Given the description of an element on the screen output the (x, y) to click on. 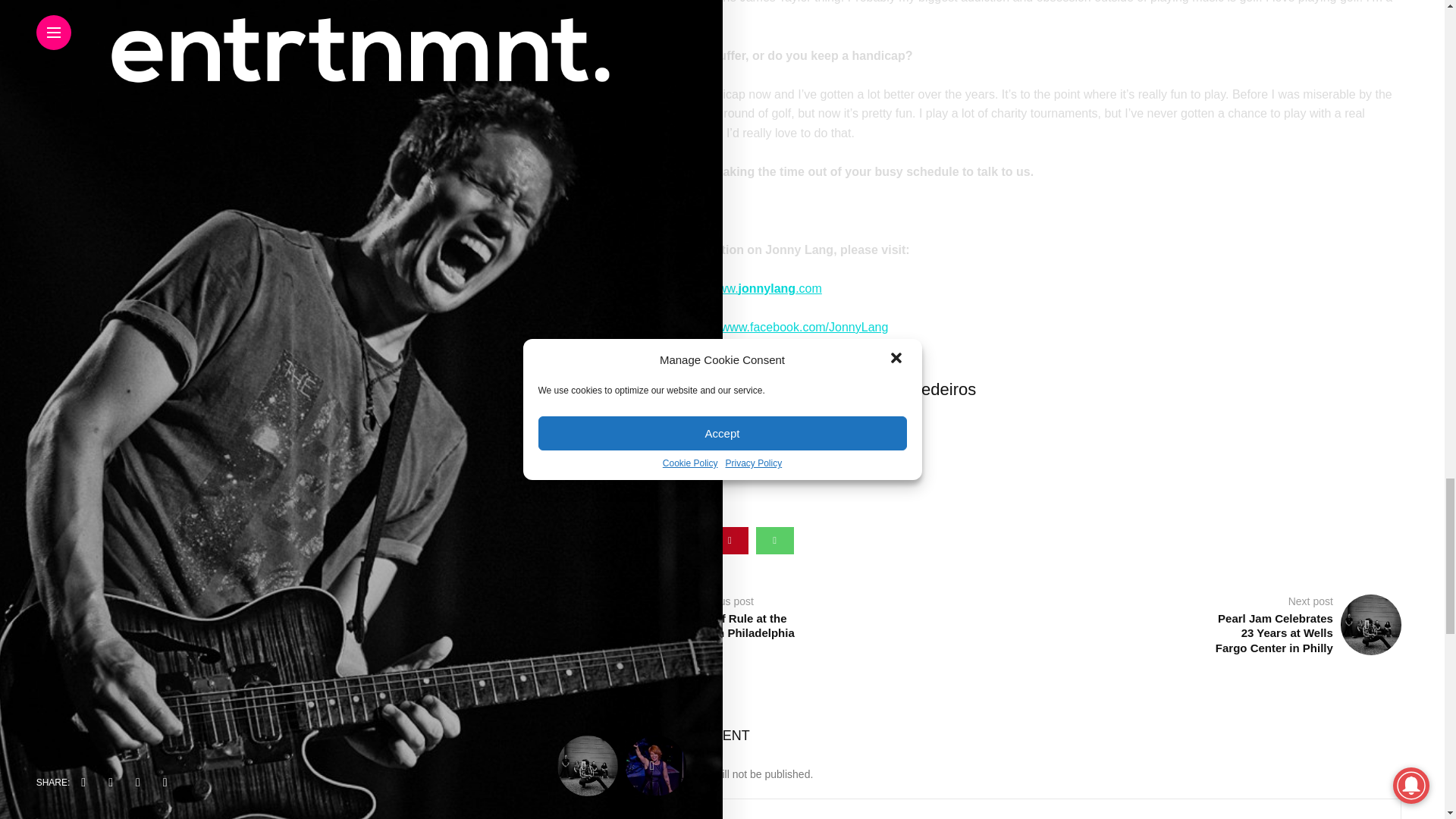
Posts by David Medeiros (917, 388)
www.jonnylang.com (765, 287)
facebook (640, 539)
David Medeiros (917, 388)
